Given the description of an element on the screen output the (x, y) to click on. 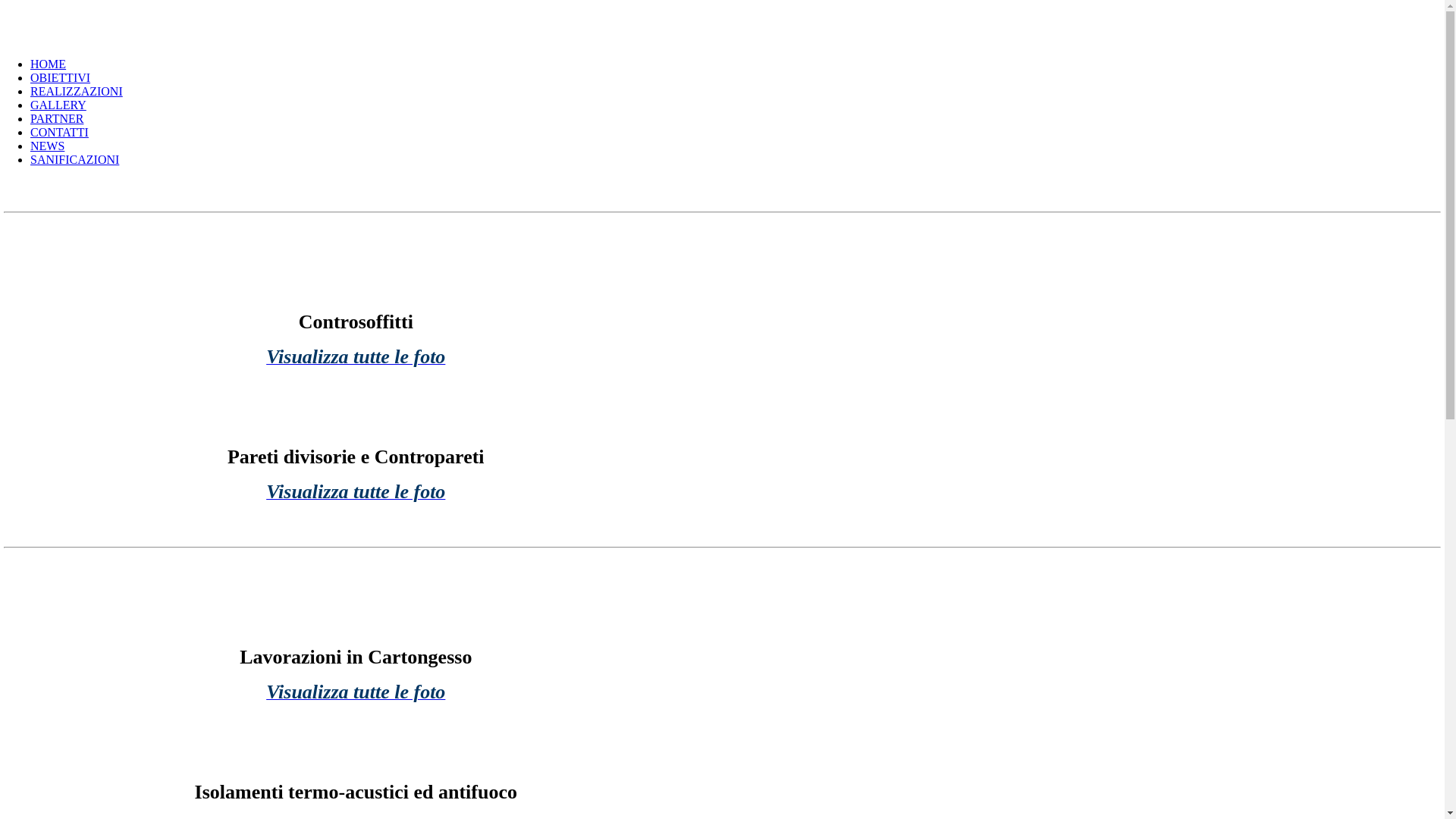
Visualizza tutte le foto Element type: text (355, 358)
SANIFICAZIONI Element type: text (74, 159)
Visualizza tutte le foto Element type: text (355, 493)
Visualizza tutte le foto Element type: text (355, 693)
REALIZZAZIONI Element type: text (76, 90)
NEWS Element type: text (47, 145)
GALLERY Element type: text (58, 104)
PARTNER Element type: text (56, 118)
OBIETTIVI Element type: text (60, 77)
CONTATTI Element type: text (59, 131)
HOME Element type: text (47, 63)
